Given the description of an element on the screen output the (x, y) to click on. 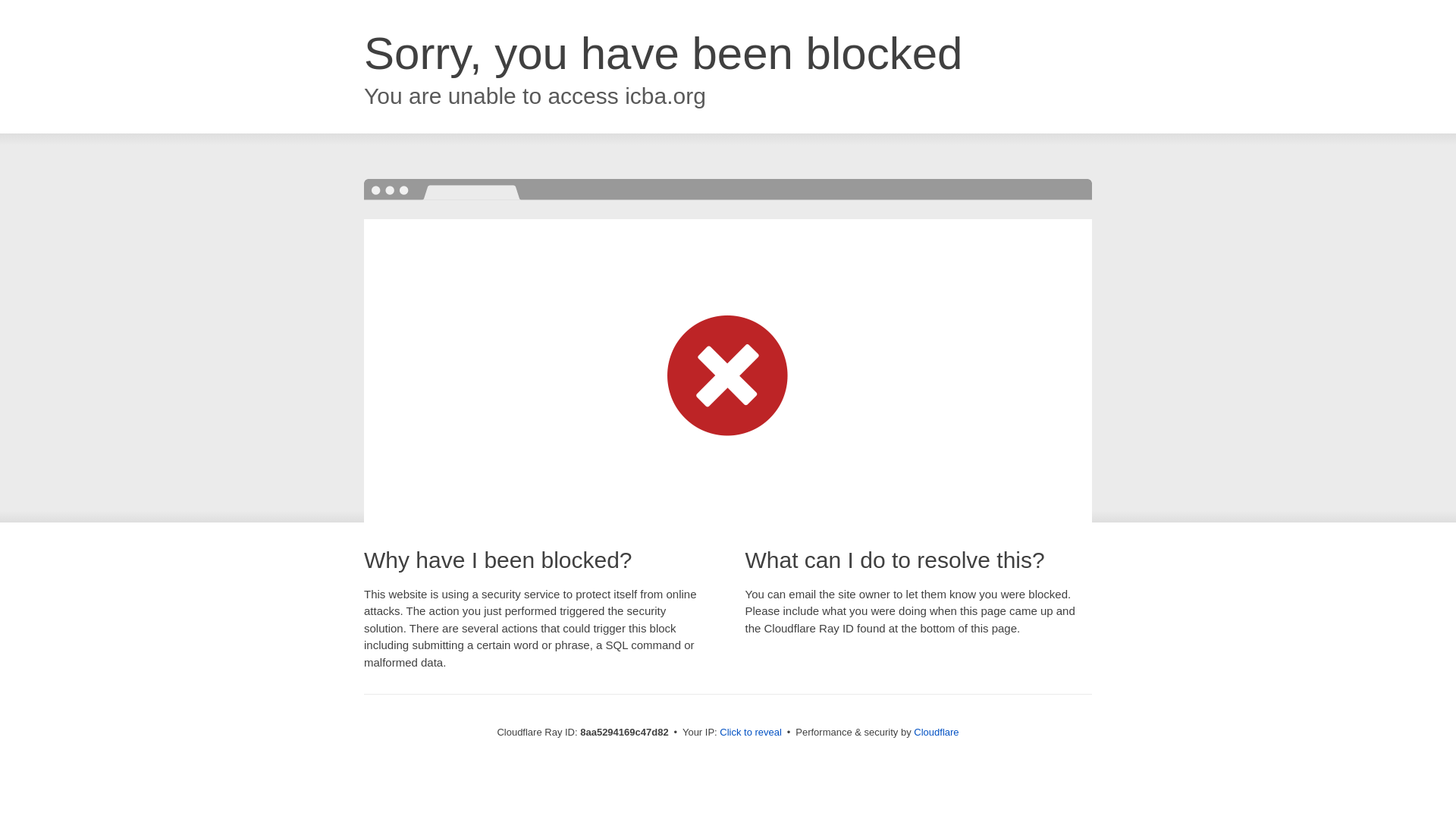
Cloudflare (936, 731)
Click to reveal (750, 732)
